Given the description of an element on the screen output the (x, y) to click on. 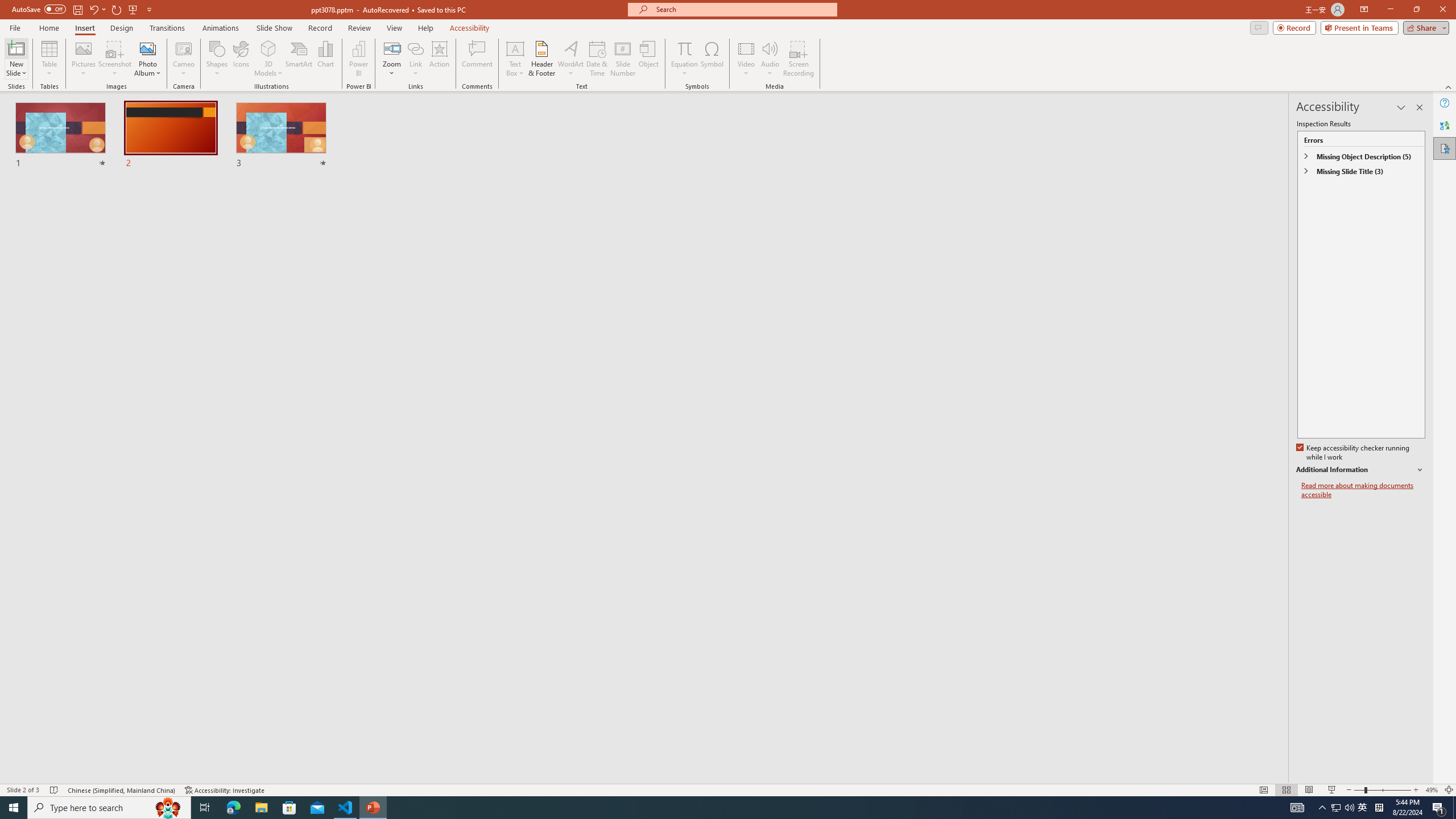
SmartArt... (298, 58)
Screenshot (114, 58)
Object... (649, 58)
Chart... (325, 58)
Zoom 49% (1431, 790)
